Given the description of an element on the screen output the (x, y) to click on. 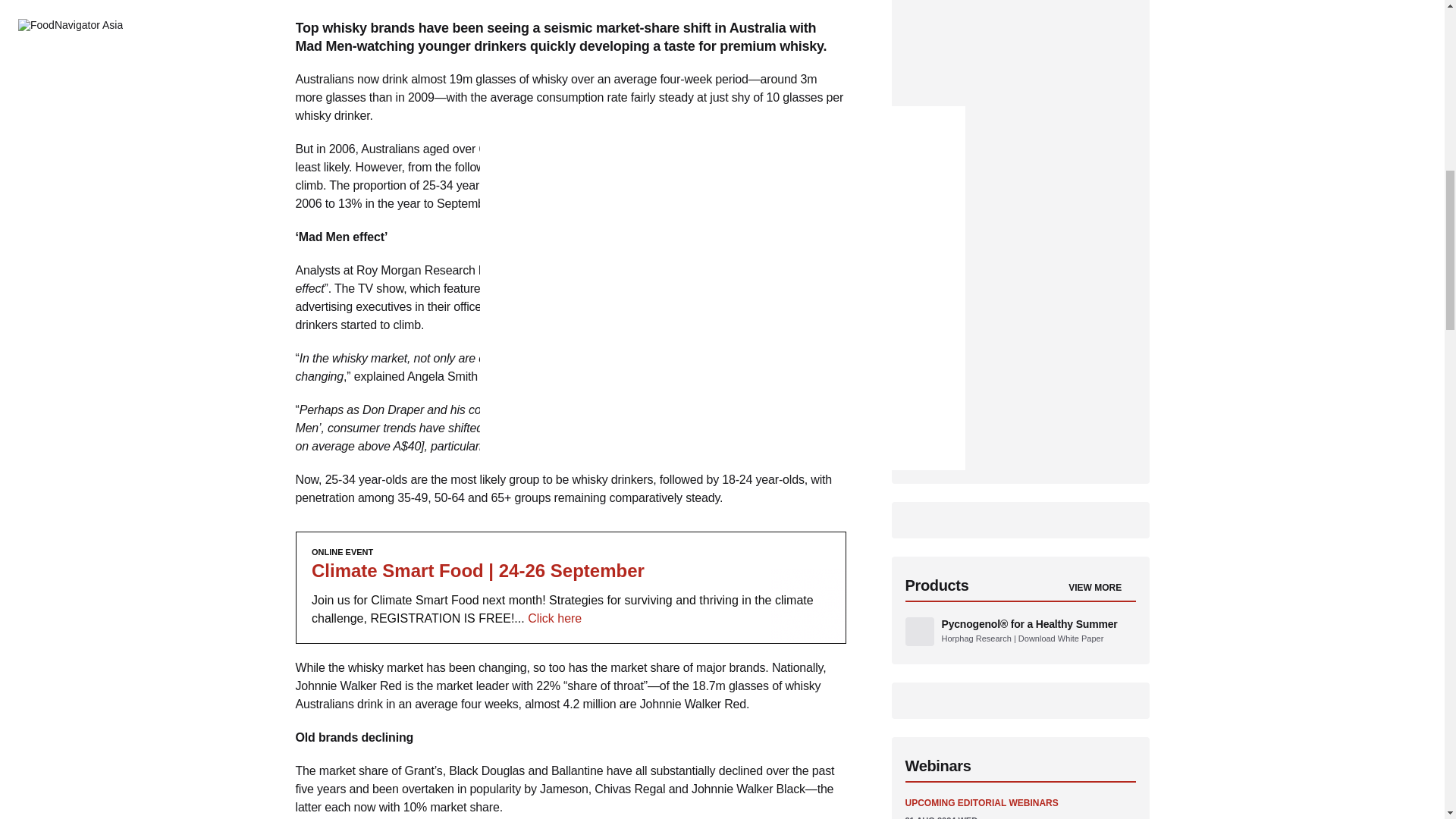
3rd party ad content (570, 587)
